Given the description of an element on the screen output the (x, y) to click on. 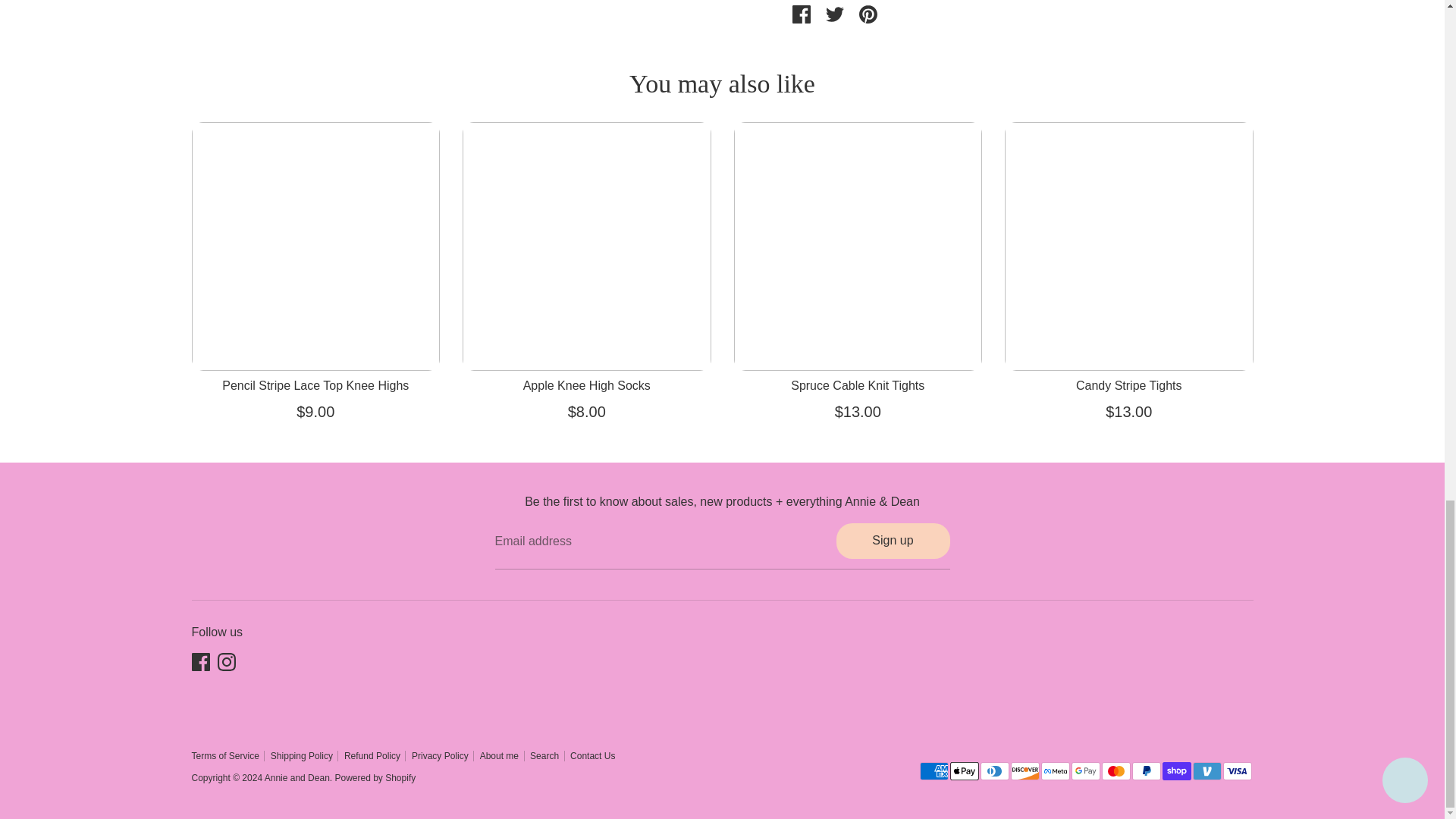
Diners Club (994, 771)
Google Pay (1084, 771)
Apple Pay (963, 771)
American Express (932, 771)
Meta Pay (1054, 771)
Discover (1024, 771)
